Given the description of an element on the screen output the (x, y) to click on. 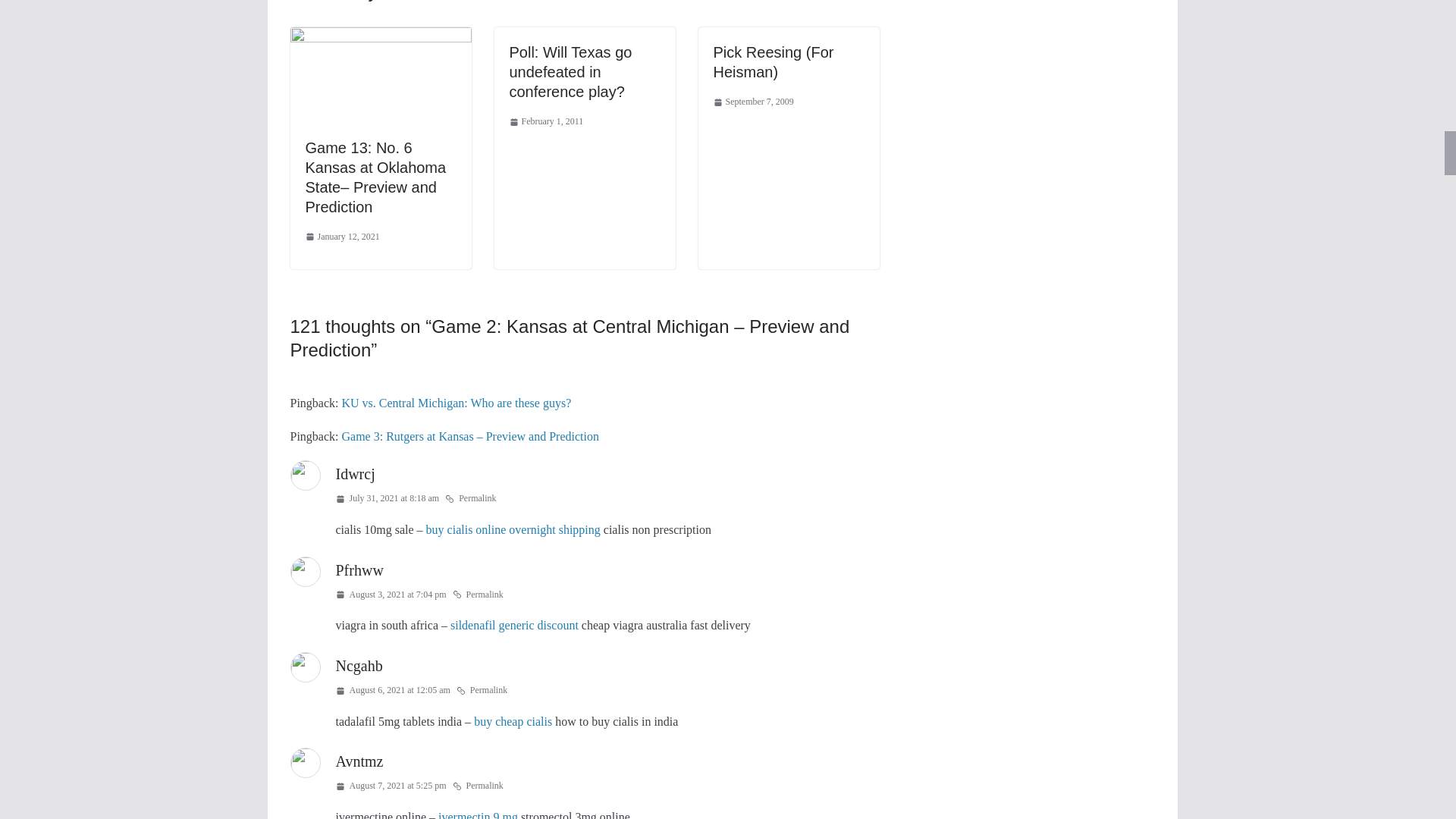
11:21 am (341, 237)
Poll: Will Texas go undefeated in conference play? (570, 71)
12:49 pm (546, 121)
